Given the description of an element on the screen output the (x, y) to click on. 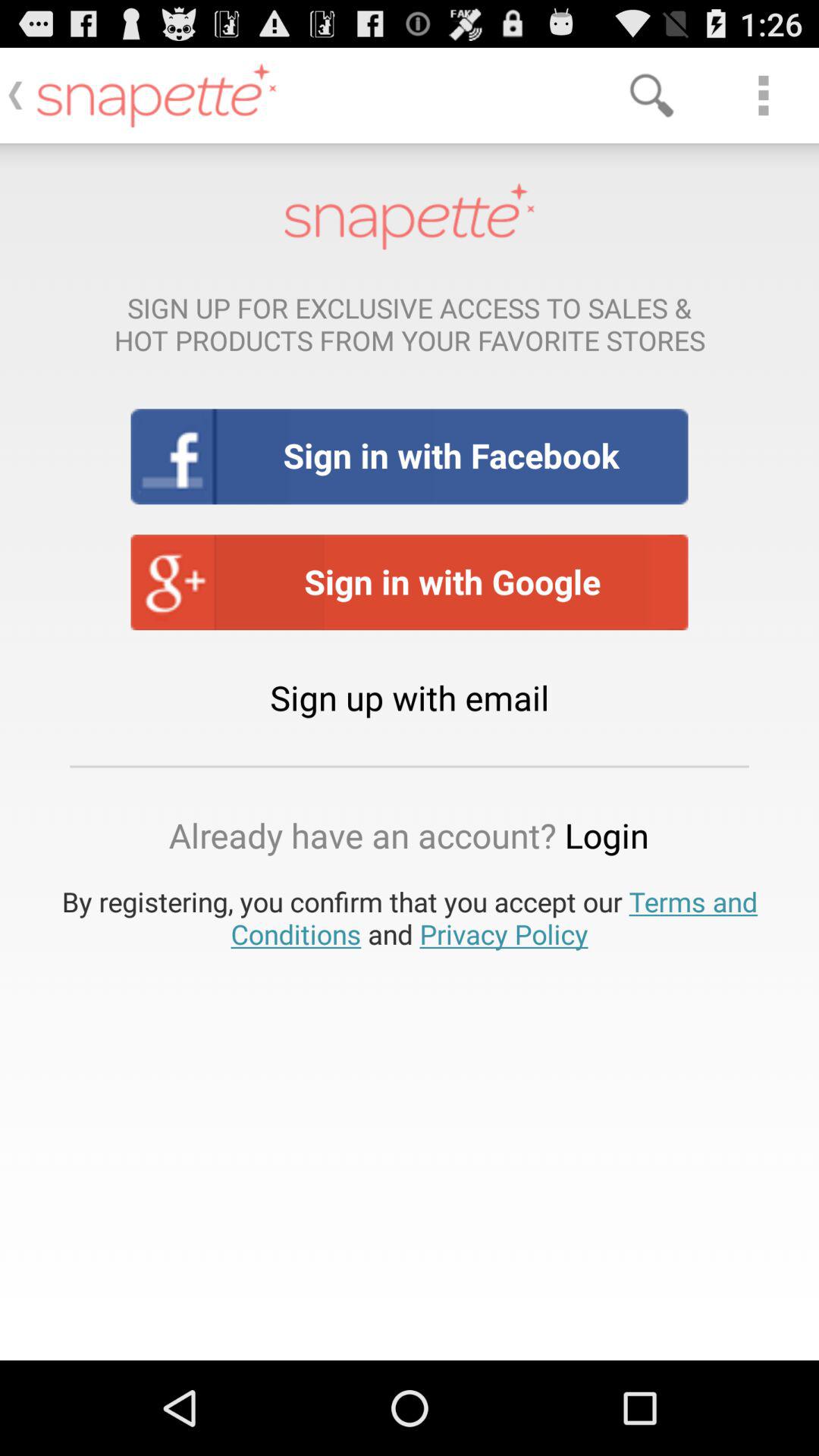
tap the item above sign up for (651, 95)
